Given the description of an element on the screen output the (x, y) to click on. 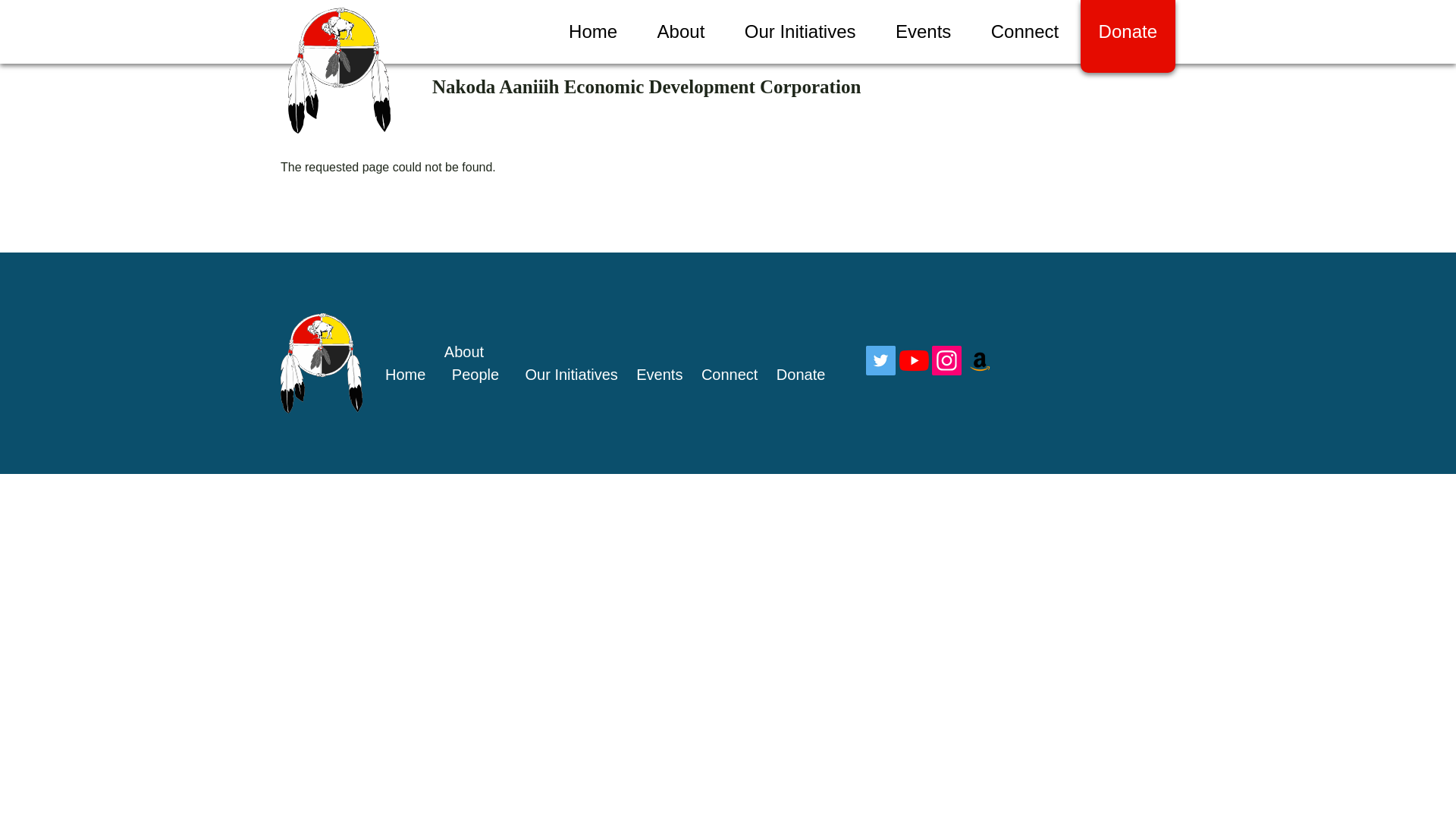
Connect (1024, 31)
Donate (1127, 36)
About (463, 351)
Donate (800, 374)
Our Initiatives (800, 31)
Events (923, 31)
Home (405, 374)
Connect (729, 374)
About (681, 31)
Home (592, 31)
Nakoda Aaniiih Economic Development Corporation (646, 86)
Home (646, 86)
People (475, 374)
Events (659, 374)
